Given the description of an element on the screen output the (x, y) to click on. 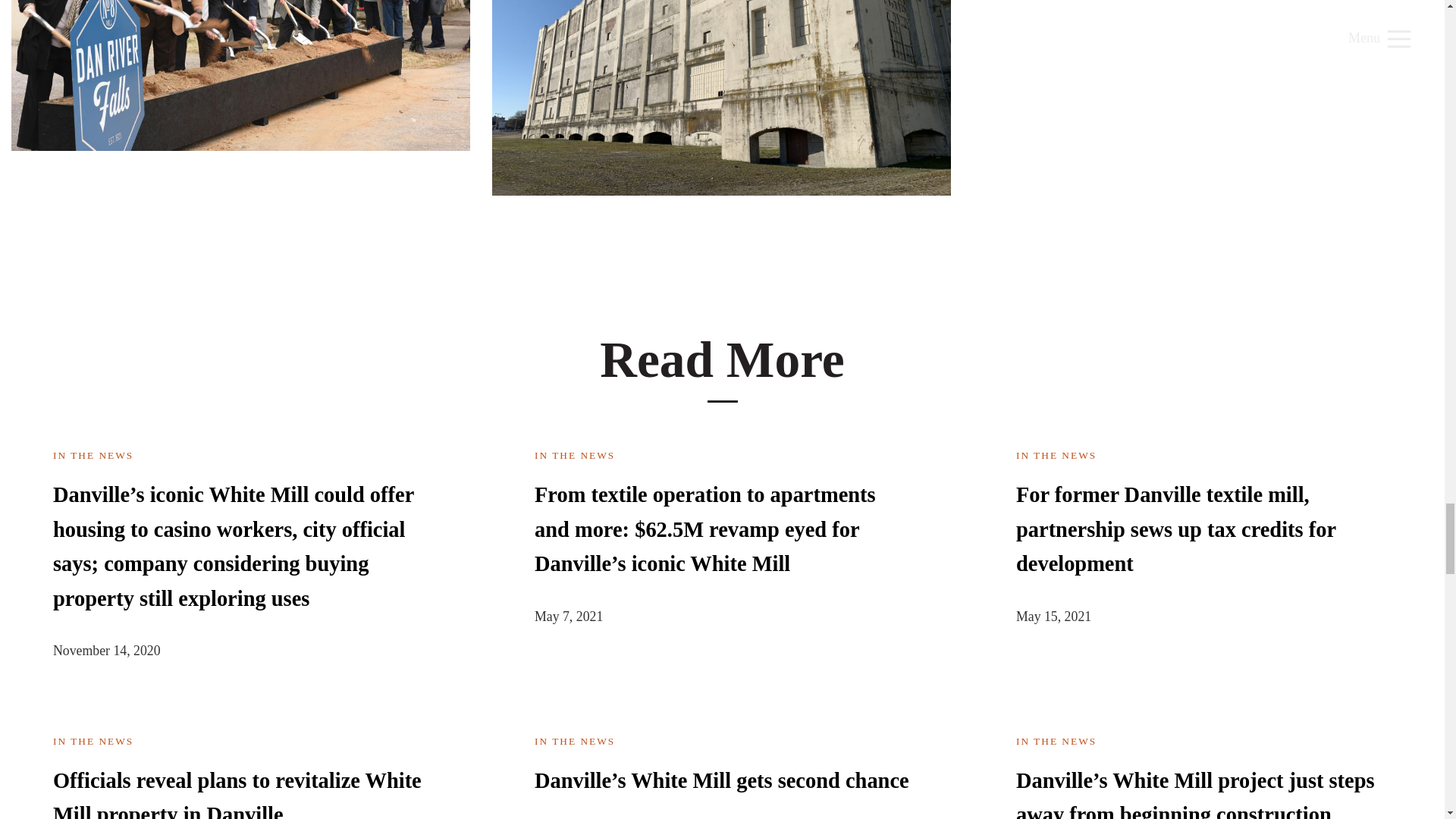
IN THE NEWS (1056, 740)
IN THE NEWS (92, 740)
IN THE NEWS (574, 740)
IN THE NEWS (574, 455)
IN THE NEWS (1056, 455)
IN THE NEWS (92, 455)
